Given the description of an element on the screen output the (x, y) to click on. 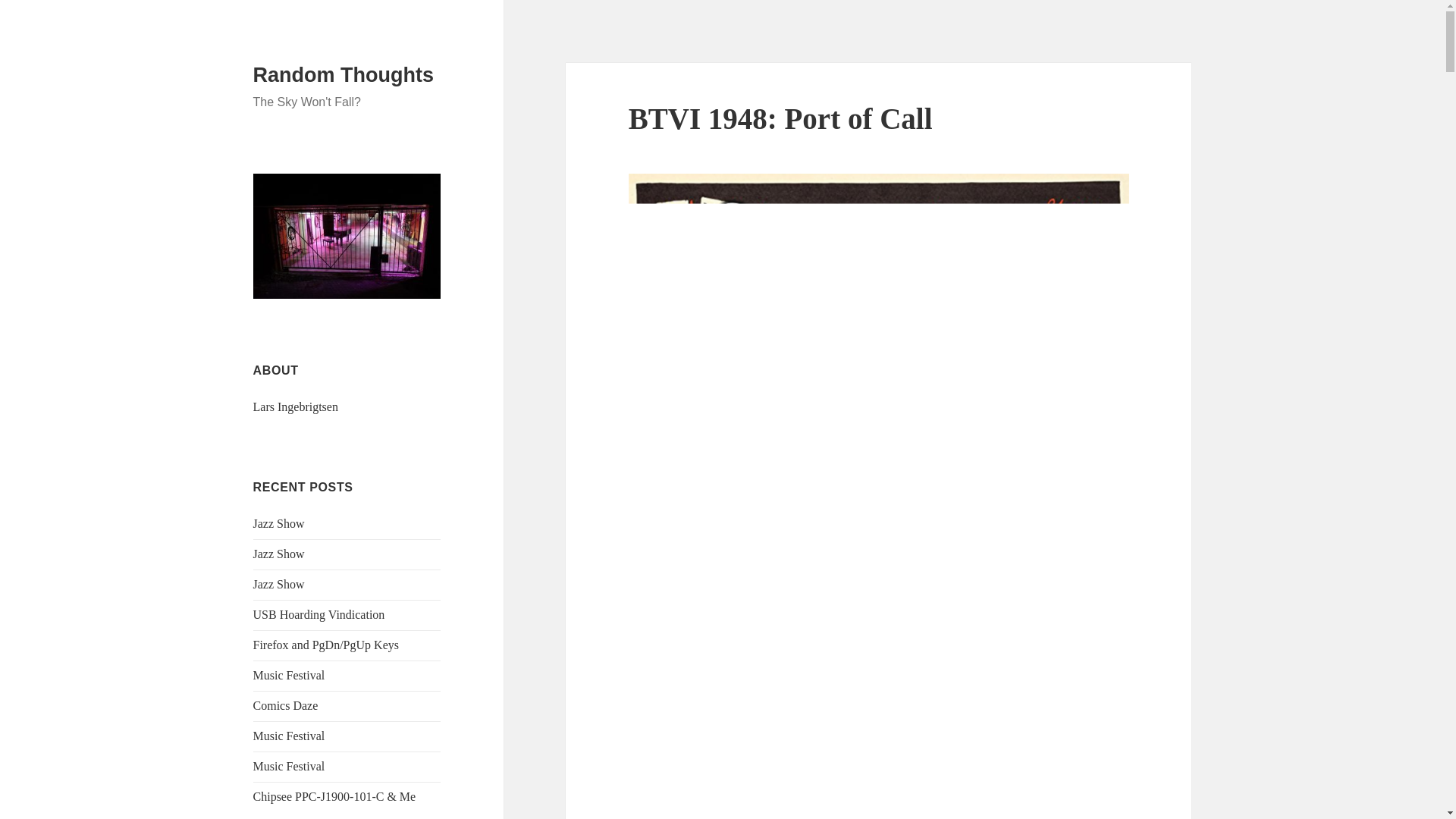
Music Festival (288, 735)
Lars Ingebrigtsen (295, 406)
Jazz Show (278, 522)
Jazz Show (278, 553)
Comics Daze (285, 705)
USB Hoarding Vindication (319, 614)
Music Festival (288, 675)
Random Thoughts (343, 74)
Jazz Show (278, 584)
Music Festival (288, 766)
